Given the description of an element on the screen output the (x, y) to click on. 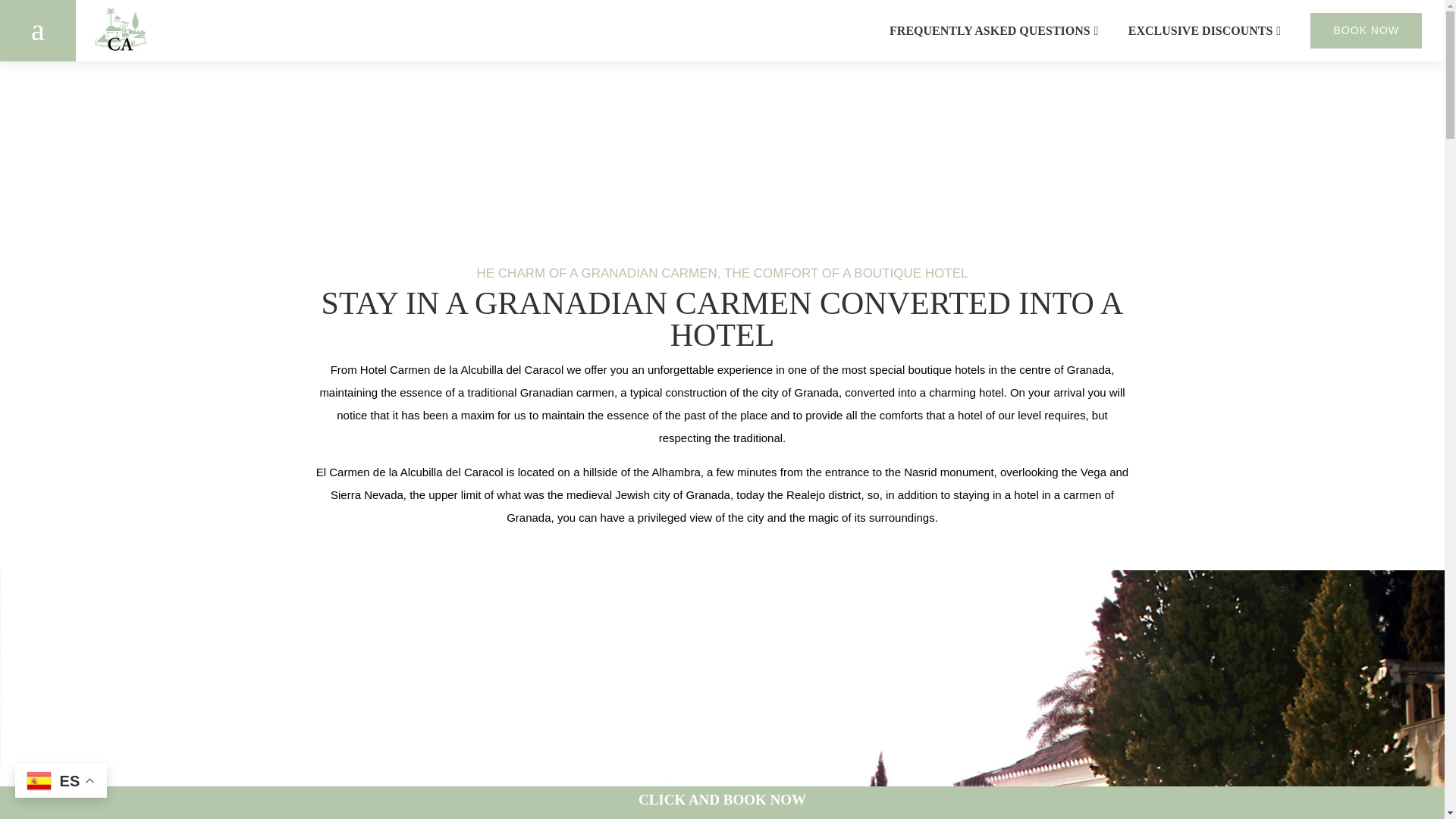
FREQUENTLY ASKED QUESTIONS (989, 30)
BOOK NOW (1366, 30)
logo alcubilla caracol hotel boutique carmen granada (120, 30)
EXCLUSIVE DISCOUNTS (1200, 30)
